Given the description of an element on the screen output the (x, y) to click on. 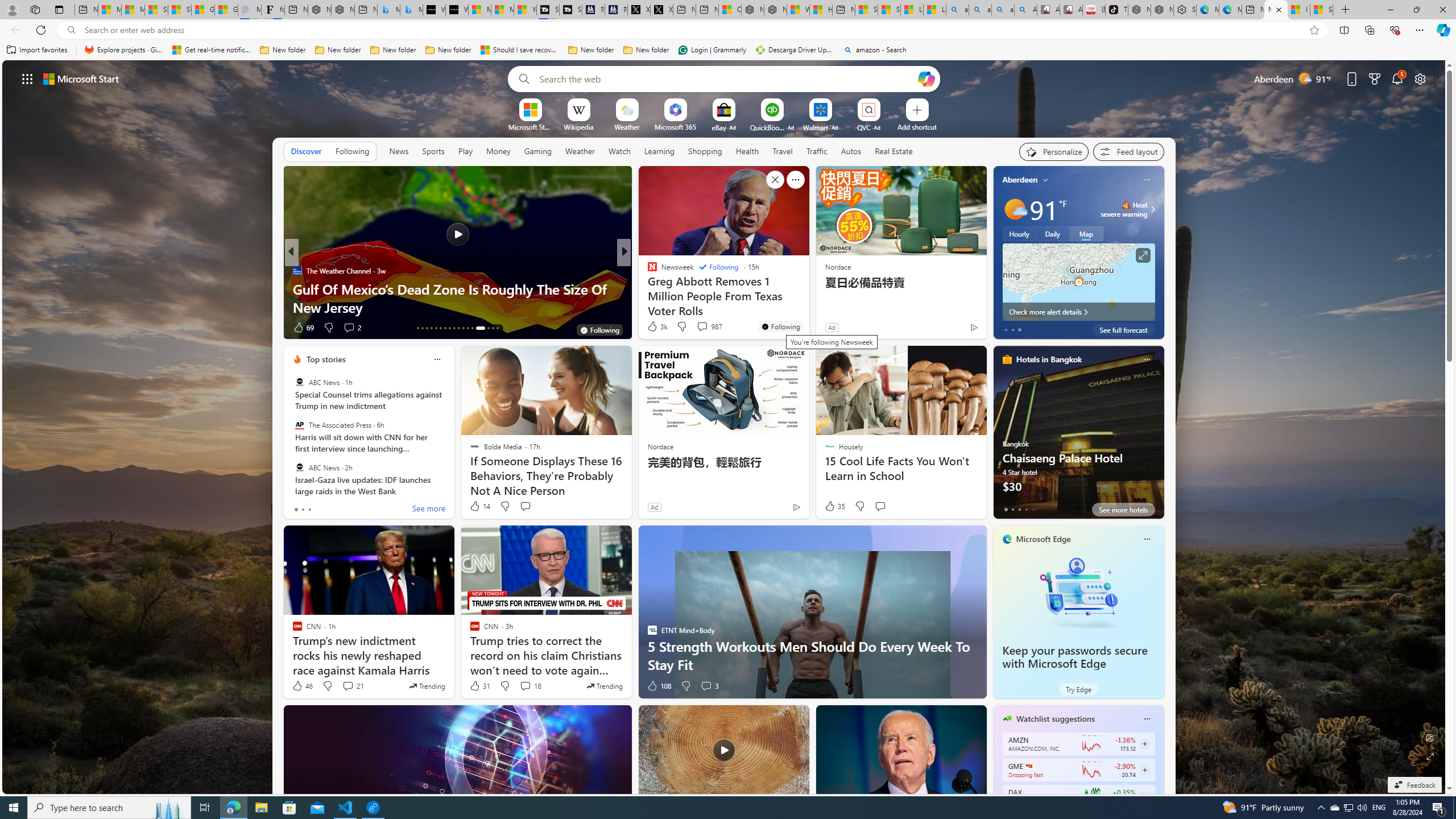
Nordace - Best Sellers (1139, 9)
Aberdeen (1019, 179)
AutomationID: tab-16 (431, 328)
Sports (432, 151)
Edit Background (1430, 737)
AutomationID: tab-14 (422, 328)
Login | Grammarly (712, 49)
Watchlist suggestions (1055, 718)
amazon - Search (875, 49)
Shopping (705, 151)
AutomationID: tab-18 (440, 328)
Money (498, 151)
